Given the description of an element on the screen output the (x, y) to click on. 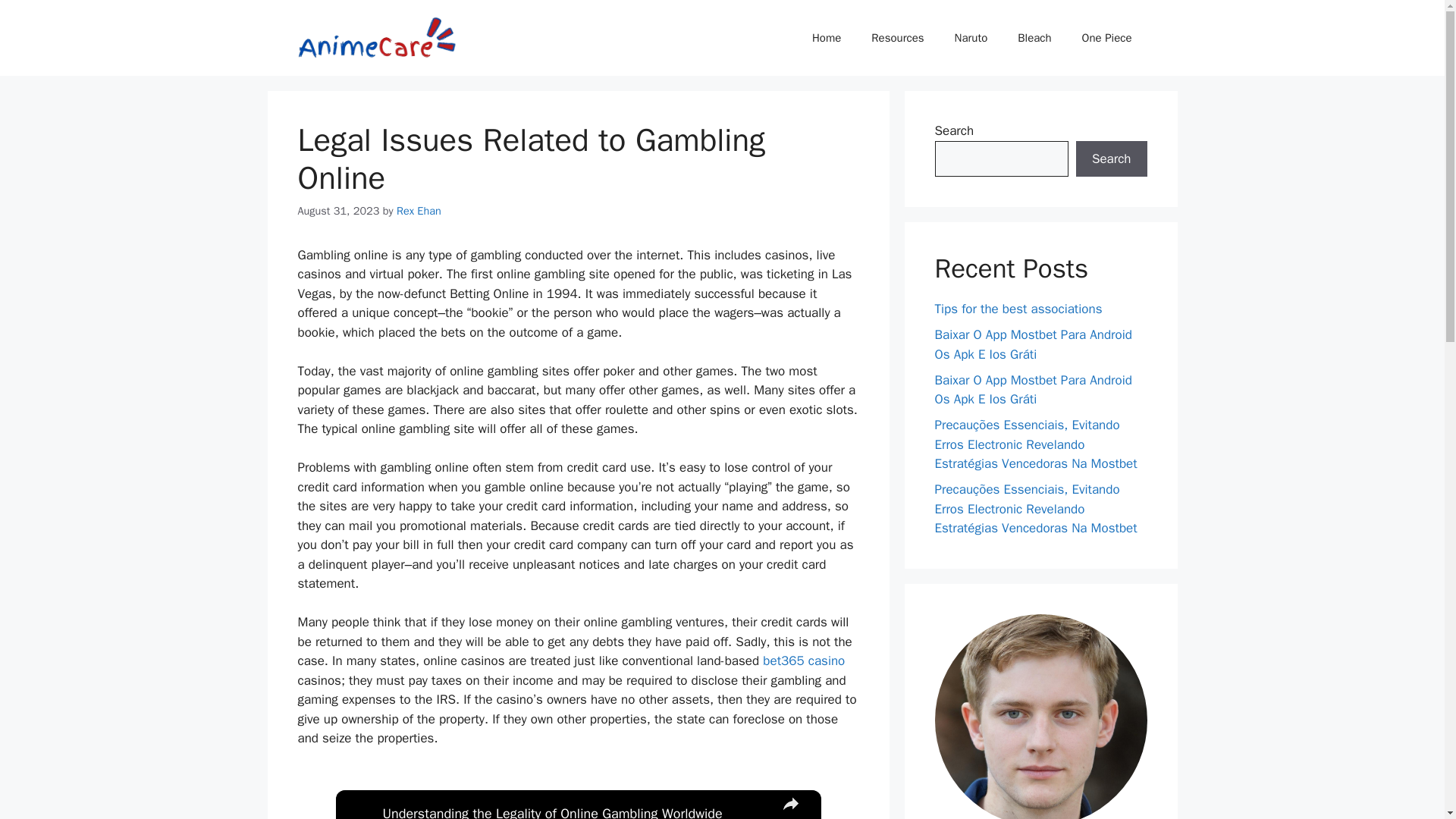
bet365 casino (803, 660)
View all posts by Rex Ehan (418, 210)
Naruto (971, 37)
Rex Ehan (418, 210)
Resources (897, 37)
One Piece (1107, 37)
share (789, 804)
Search (1111, 158)
Bleach (1034, 37)
Share (789, 804)
